Given the description of an element on the screen output the (x, y) to click on. 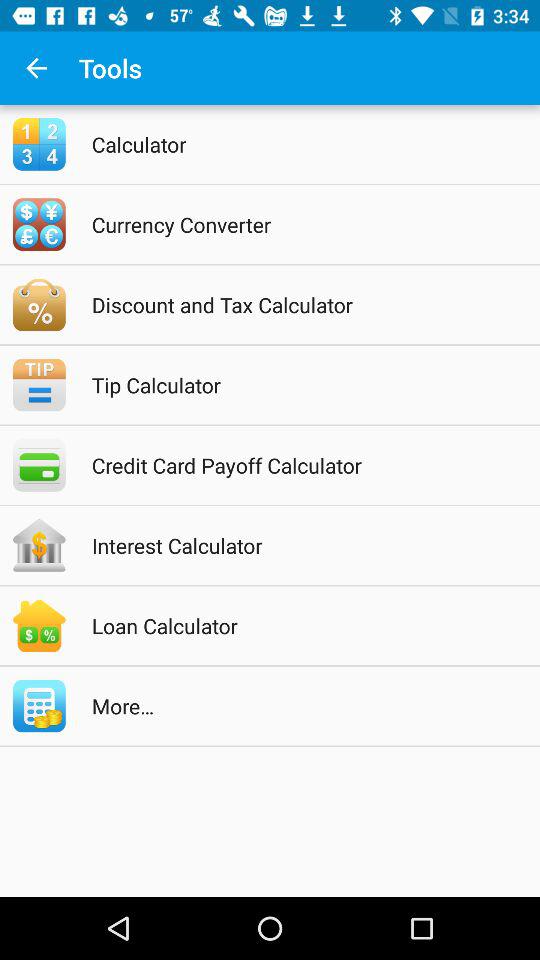
launch the icon next to tools app (36, 68)
